Given the description of an element on the screen output the (x, y) to click on. 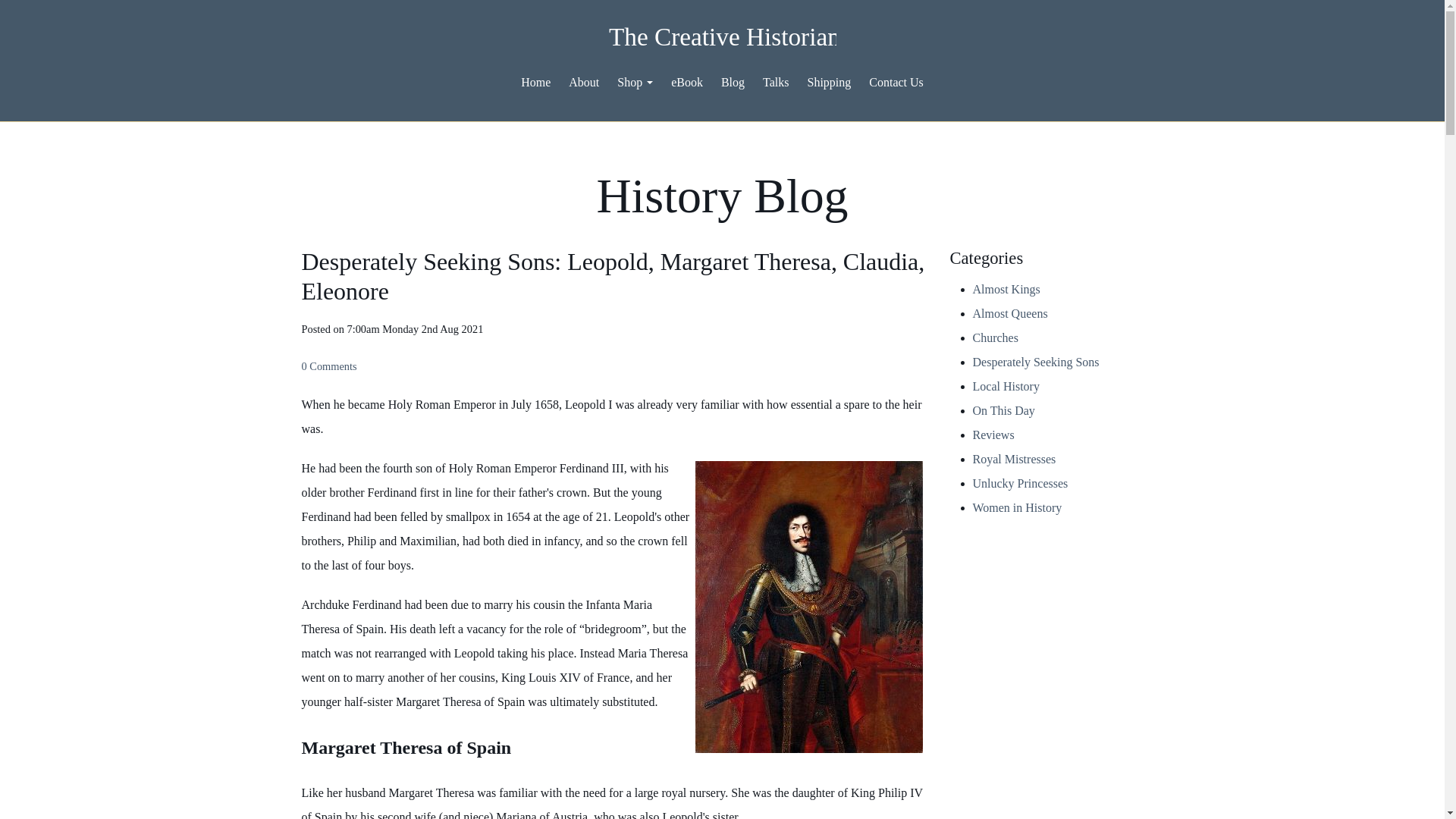
Home (535, 82)
The Creative Historian (721, 37)
The Creative Historian (721, 38)
About (583, 82)
Shop (635, 82)
